Given the description of an element on the screen output the (x, y) to click on. 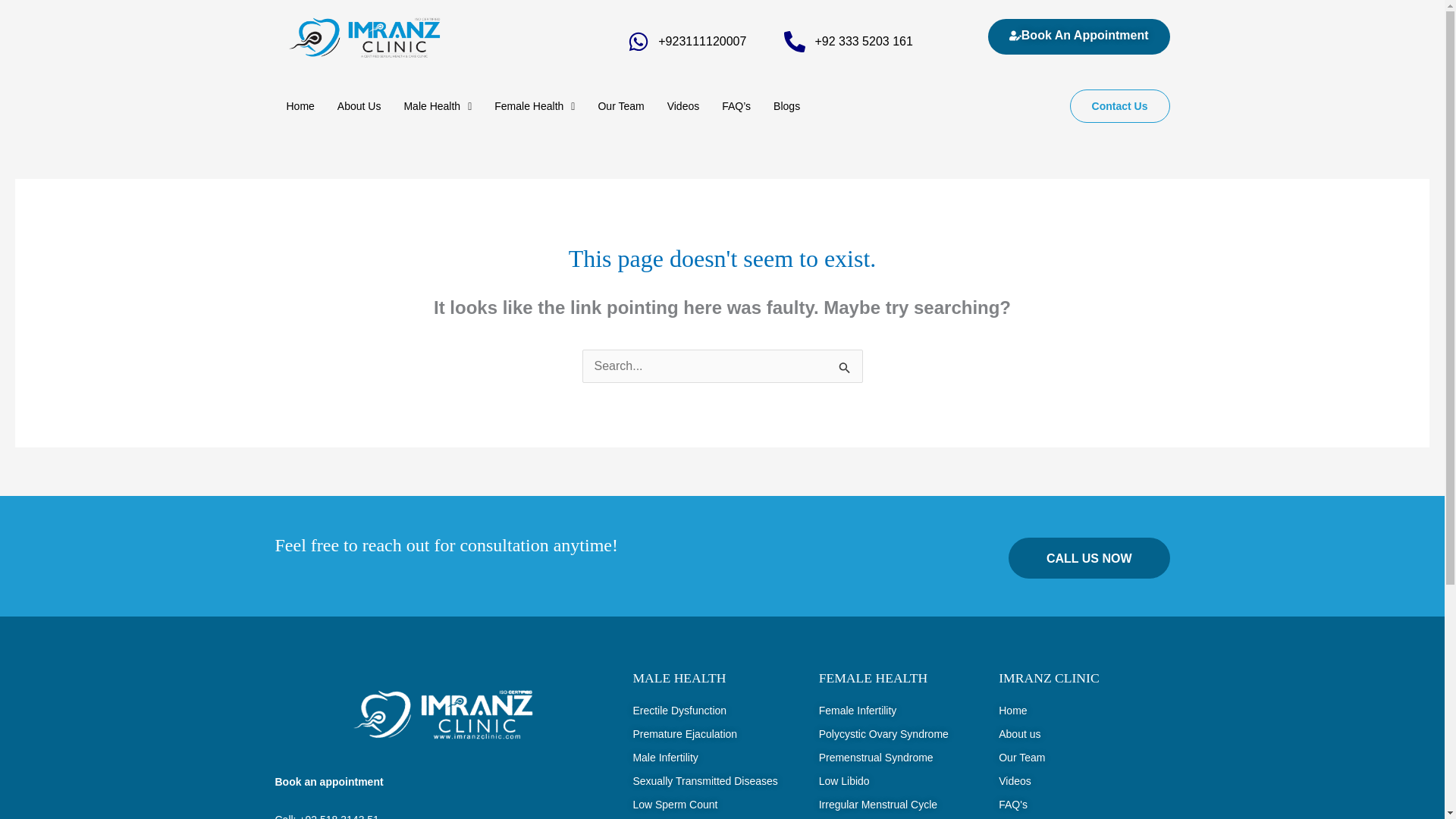
Male Health (437, 105)
Contact Us (1120, 105)
Book An Appointment (1079, 36)
Our Team (620, 105)
Videos (683, 105)
About Us (359, 105)
Female Health (534, 105)
Blogs (785, 105)
Home (299, 105)
